Given the description of an element on the screen output the (x, y) to click on. 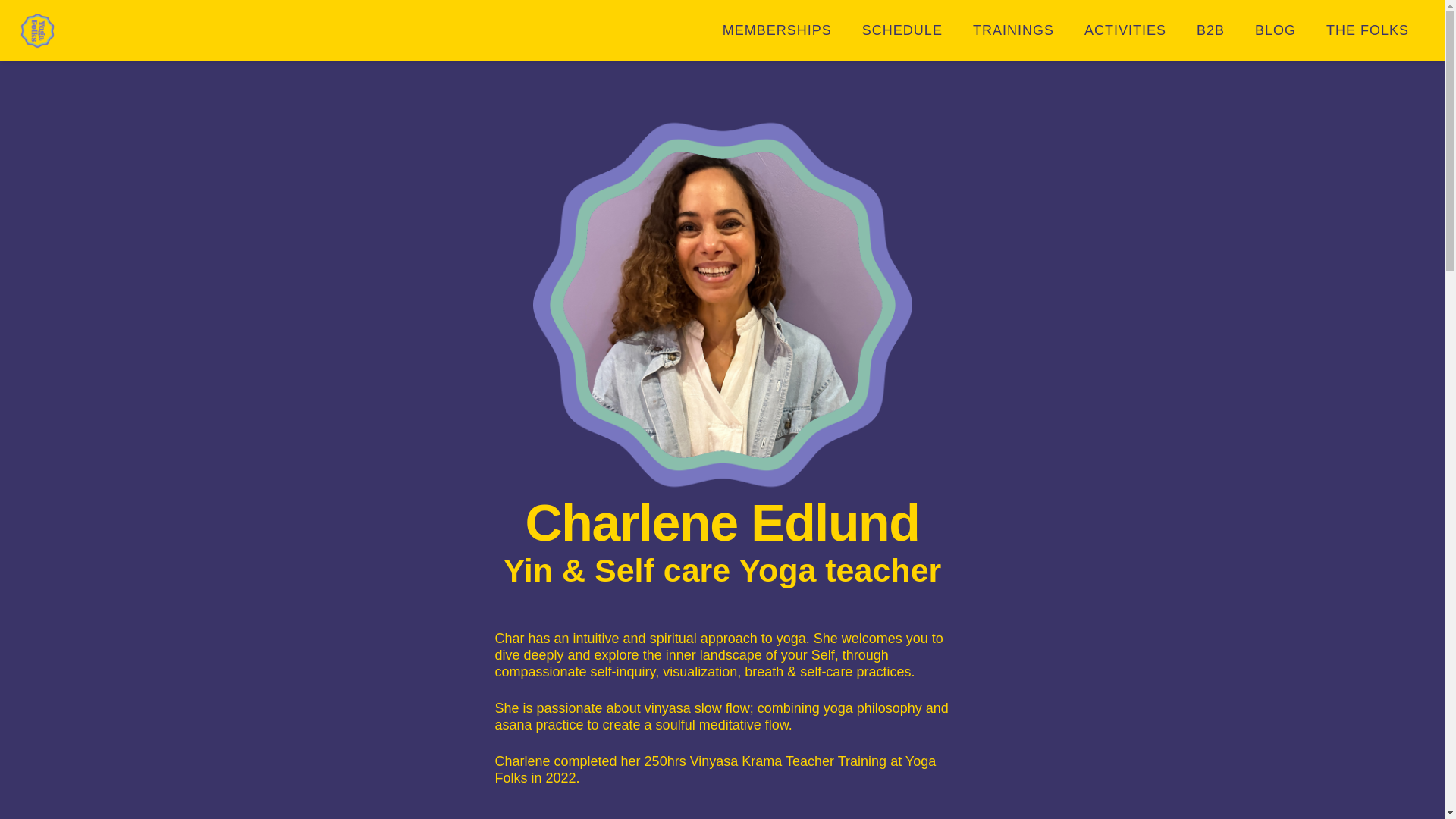
ACTIVITIES (1124, 30)
SCHEDULE (902, 30)
B2B (1210, 30)
THE FOLKS (1367, 30)
MEMBERSHIPS (777, 30)
BLOG (1275, 30)
TRAININGS (1013, 30)
